Given the description of an element on the screen output the (x, y) to click on. 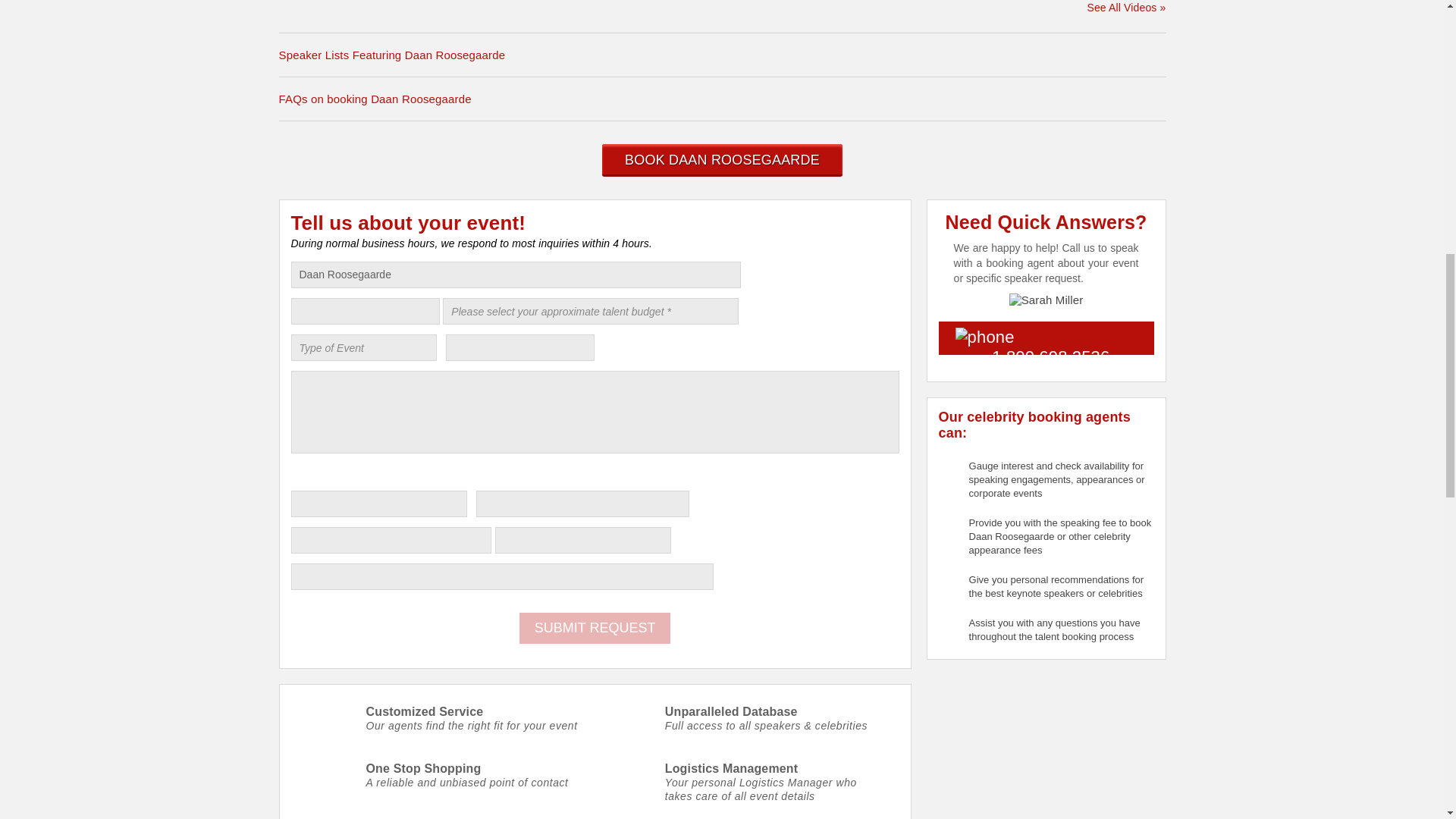
SUBMIT REQUEST (595, 627)
Daan Roosegaarde (516, 274)
